Given the description of an element on the screen output the (x, y) to click on. 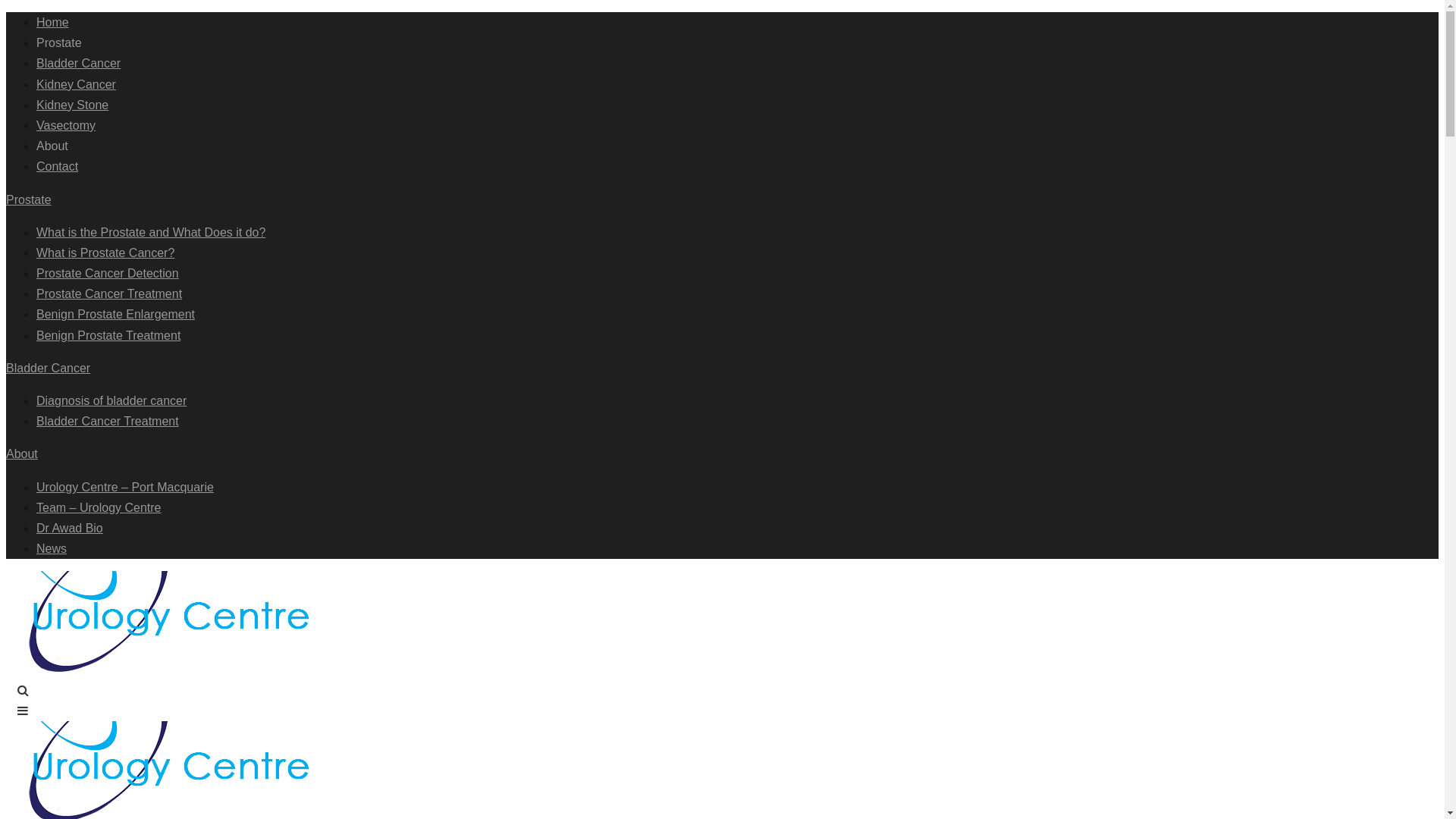
Dr Awad Bio Element type: text (69, 527)
News Element type: text (51, 548)
Home Element type: text (52, 21)
Bladder Cancer Element type: text (78, 62)
Prostate Cancer Detection Element type: text (107, 272)
Bladder Cancer Element type: text (48, 367)
What is the Prostate and What Does it do? Element type: text (150, 231)
Bladder Cancer Treatment Element type: text (107, 420)
Prostate Cancer Treatment Element type: text (109, 293)
Vasectomy Element type: text (65, 125)
Contact Element type: text (57, 166)
Kidney Cancer Element type: text (76, 84)
Benign Prostate Enlargement Element type: text (115, 313)
Benign Prostate Treatment Element type: text (108, 335)
Kidney Stone Element type: text (72, 104)
What is Prostate Cancer? Element type: text (105, 252)
Diagnosis of bladder cancer Element type: text (111, 400)
About Element type: text (21, 453)
Prostate Element type: text (28, 198)
